Given the description of an element on the screen output the (x, y) to click on. 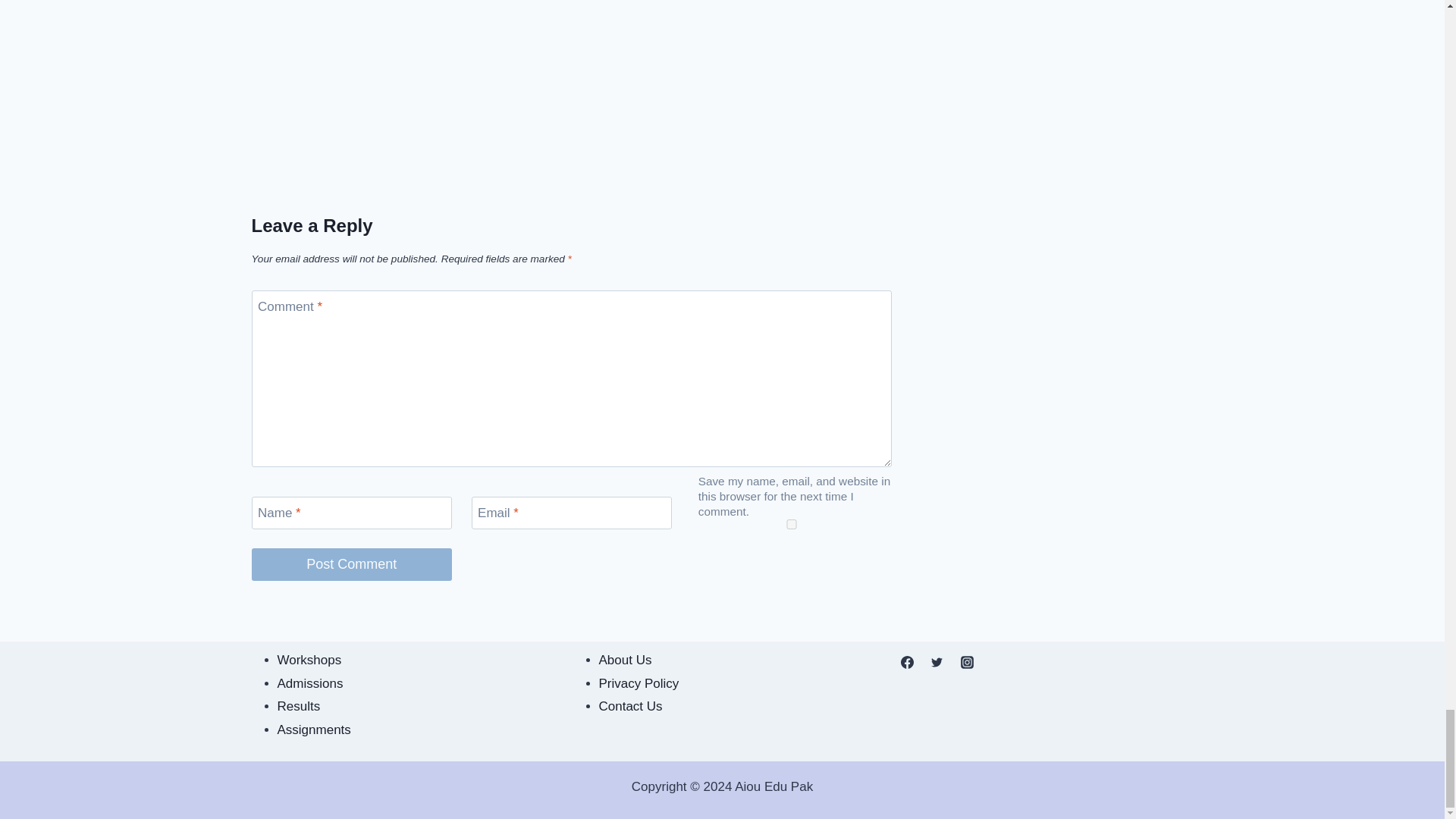
Post Comment (351, 563)
yes (791, 524)
